Given the description of an element on the screen output the (x, y) to click on. 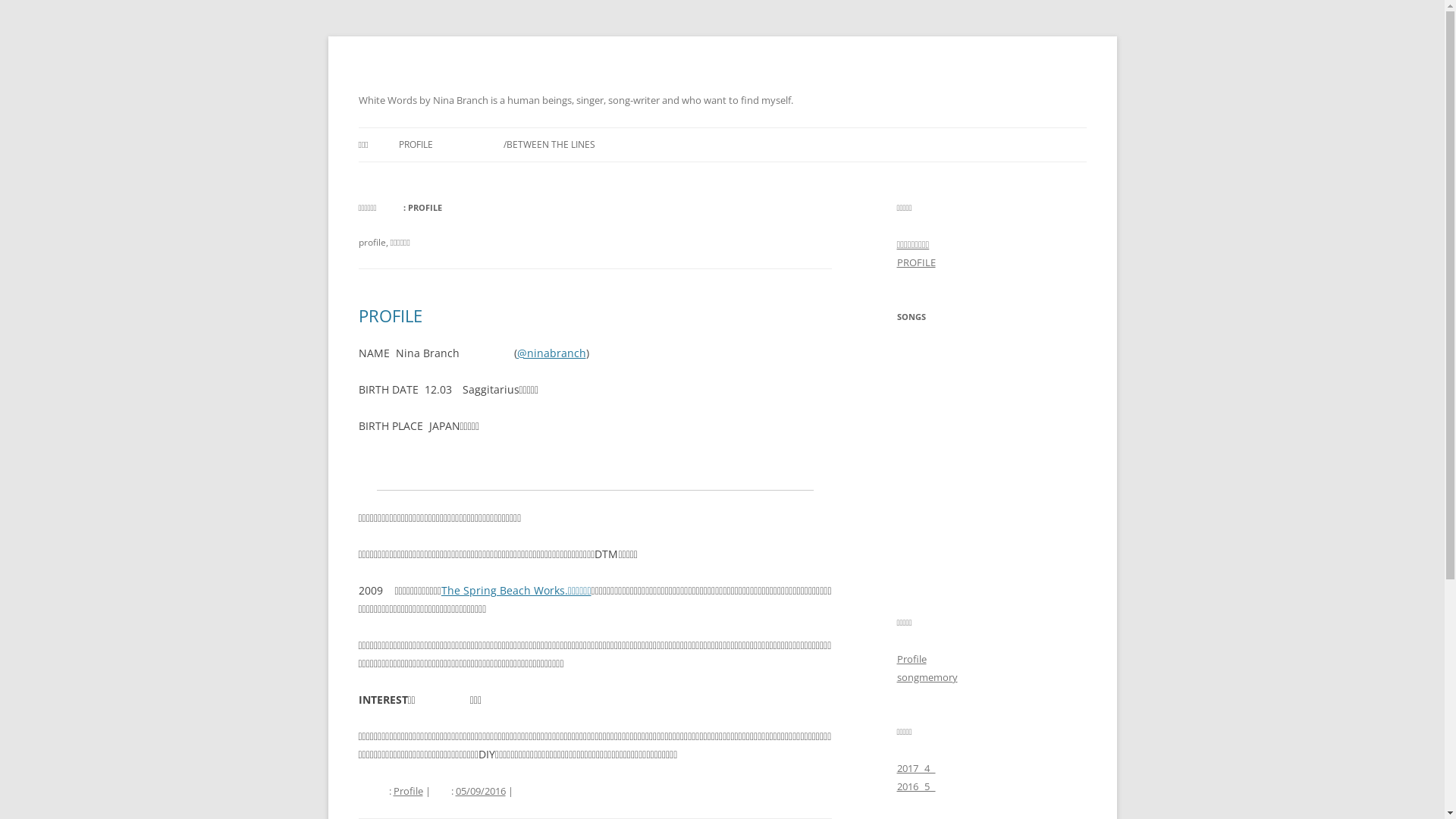
Profile Element type: text (407, 790)
Profile Element type: text (910, 658)
PROFILE Element type: text (389, 315)
05/09/2016 Element type: text (480, 790)
PROFILE Element type: text (415, 144)
songmemory Element type: text (926, 677)
PROFILE Element type: text (915, 262)
@ninabranch Element type: text (551, 352)
